Given the description of an element on the screen output the (x, y) to click on. 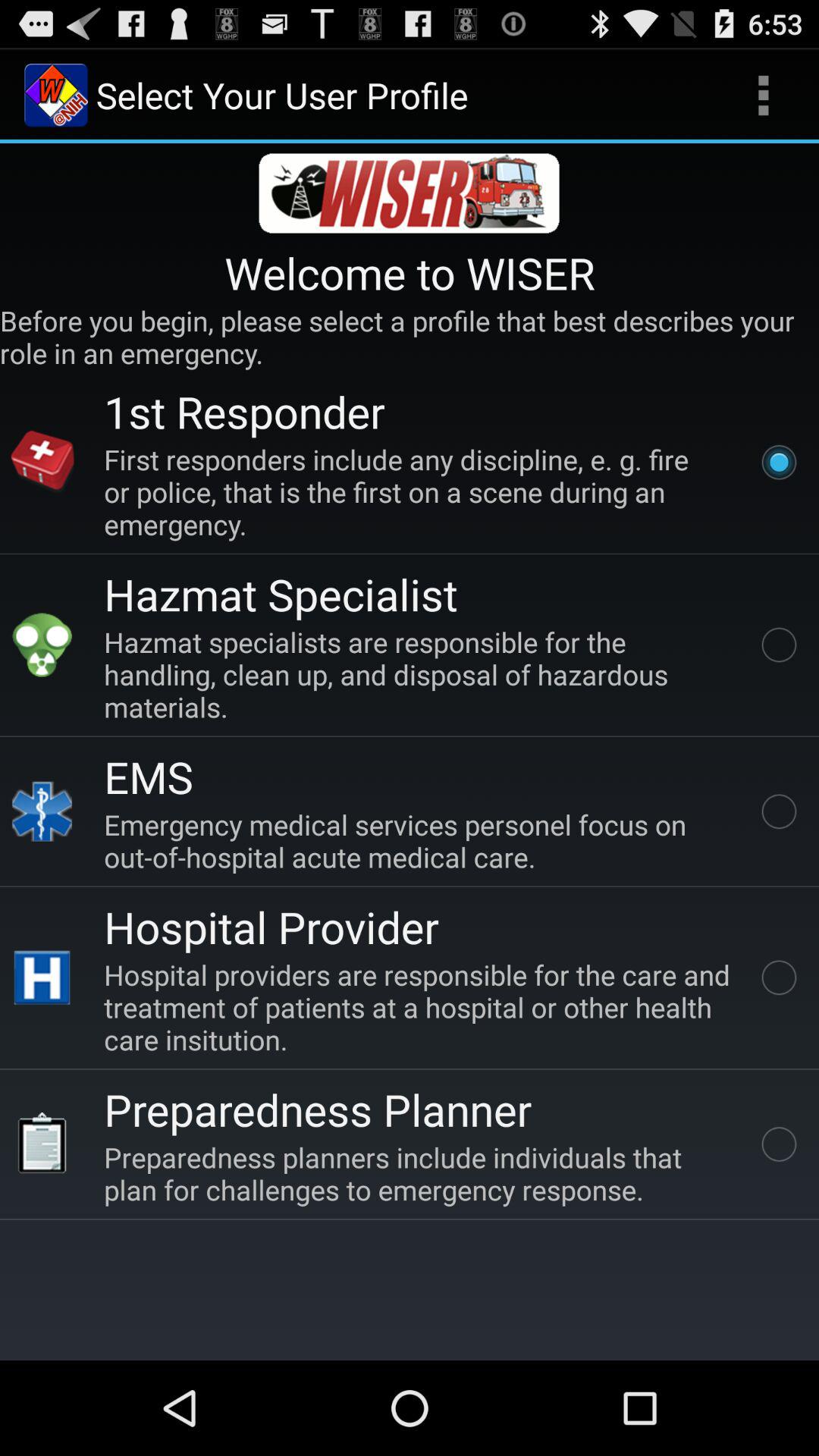
select item below the 1st responder app (420, 491)
